Given the description of an element on the screen output the (x, y) to click on. 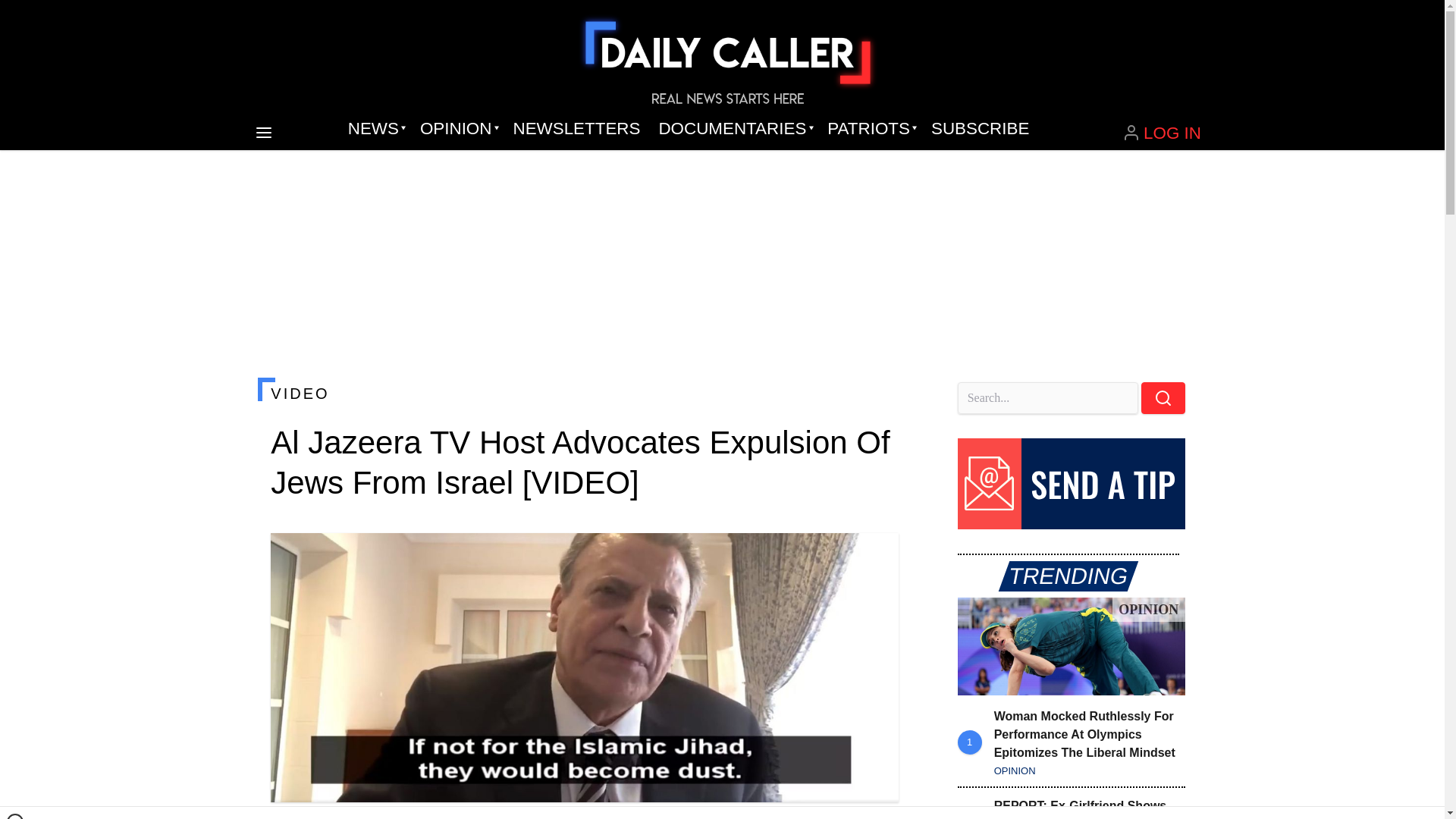
OPINION (456, 128)
SUBSCRIBE (979, 128)
Close window (14, 816)
PATRIOTS (869, 128)
Toggle fullscreen (874, 556)
NEWS (374, 128)
DOCUMENTARIES (733, 128)
NEWSLETTERS (576, 128)
VIDEO (584, 393)
